Given the description of an element on the screen output the (x, y) to click on. 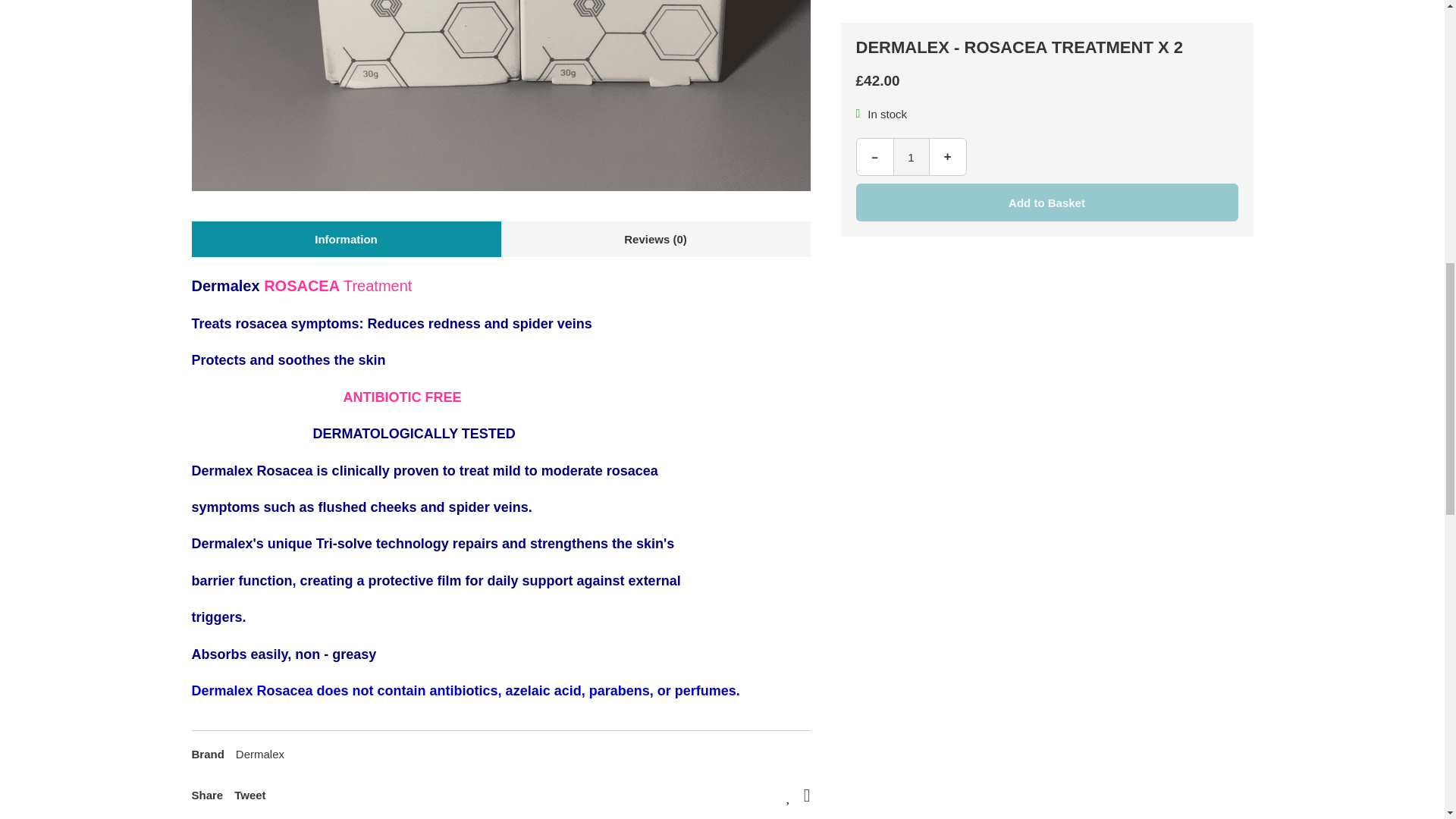
Share (206, 794)
Tell a Friend (806, 795)
Tweet (249, 794)
Add to Wish List (789, 795)
